Given the description of an element on the screen output the (x, y) to click on. 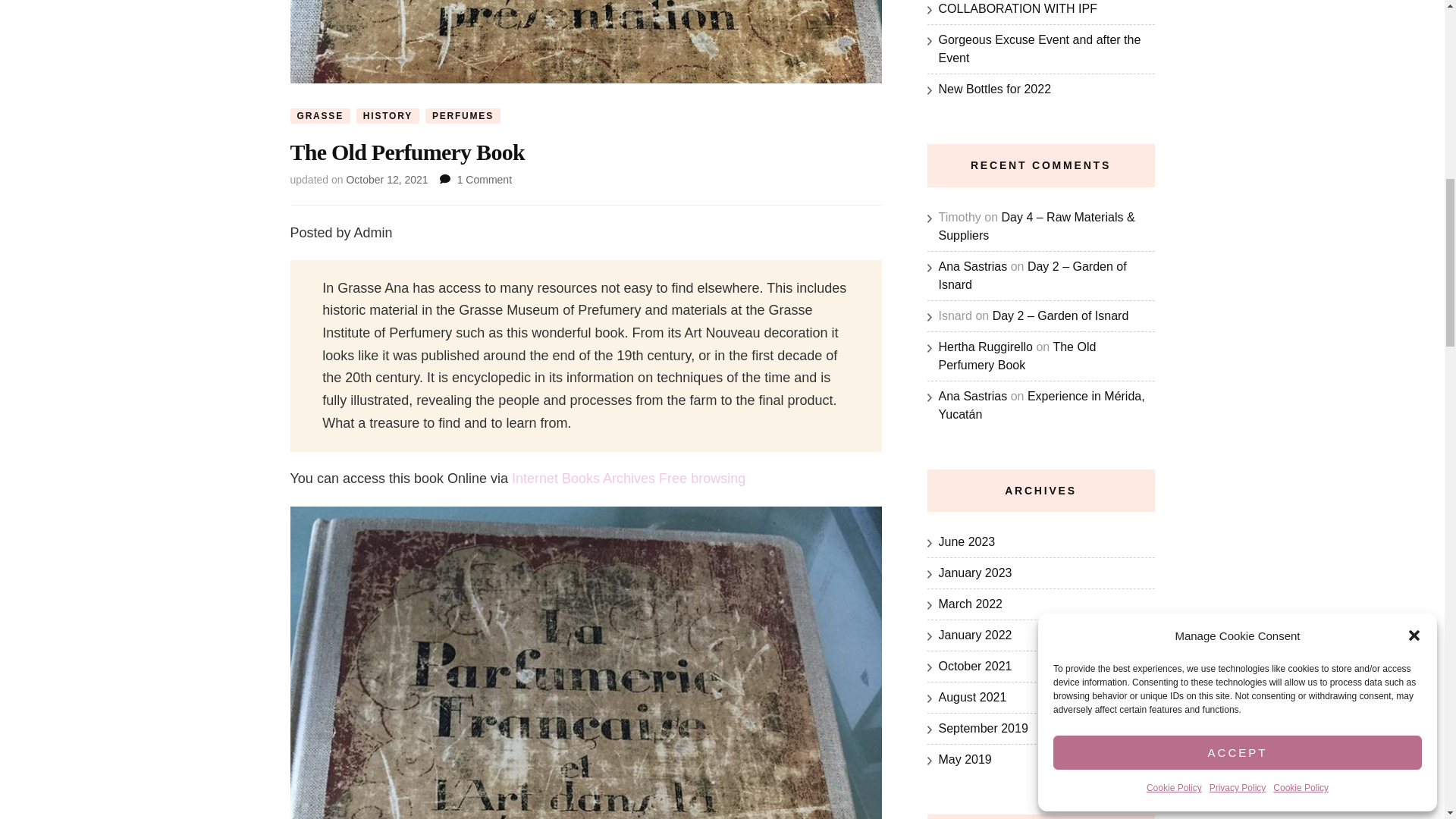
HISTORY (387, 115)
PERFUMES (462, 115)
GRASSE (319, 115)
